Given the description of an element on the screen output the (x, y) to click on. 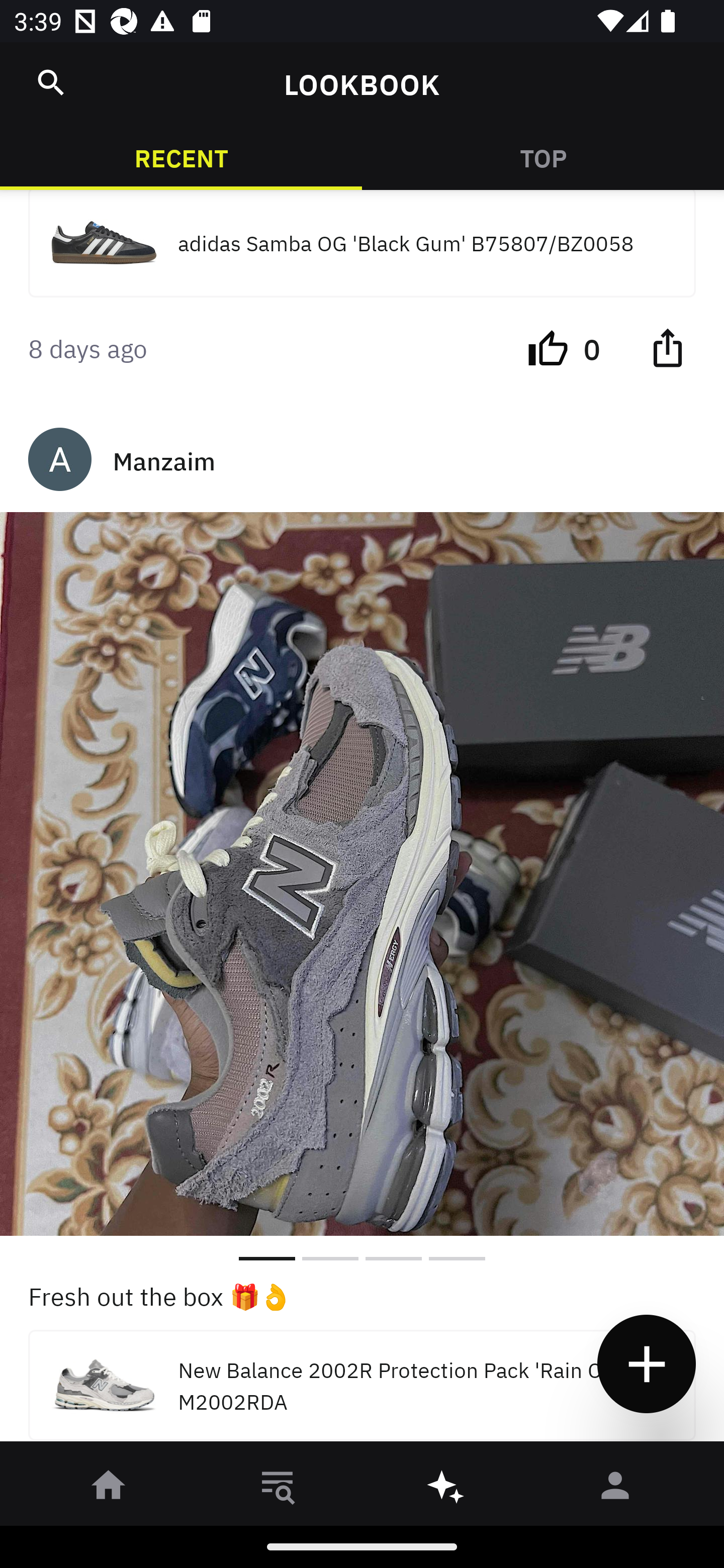
 (51, 82)
RECENT (181, 156)
TOP (543, 156)
adidas Samba OG 'Black Gum' B75807/BZ0058 (362, 243)
󰔔 (547, 346)
 (667, 346)
Fresh out the box 🎁👌 (362, 1294)
󰋜 (108, 1488)
󱎸 (277, 1488)
󰫢 (446, 1488)
󰀄 (615, 1488)
